Given the description of an element on the screen output the (x, y) to click on. 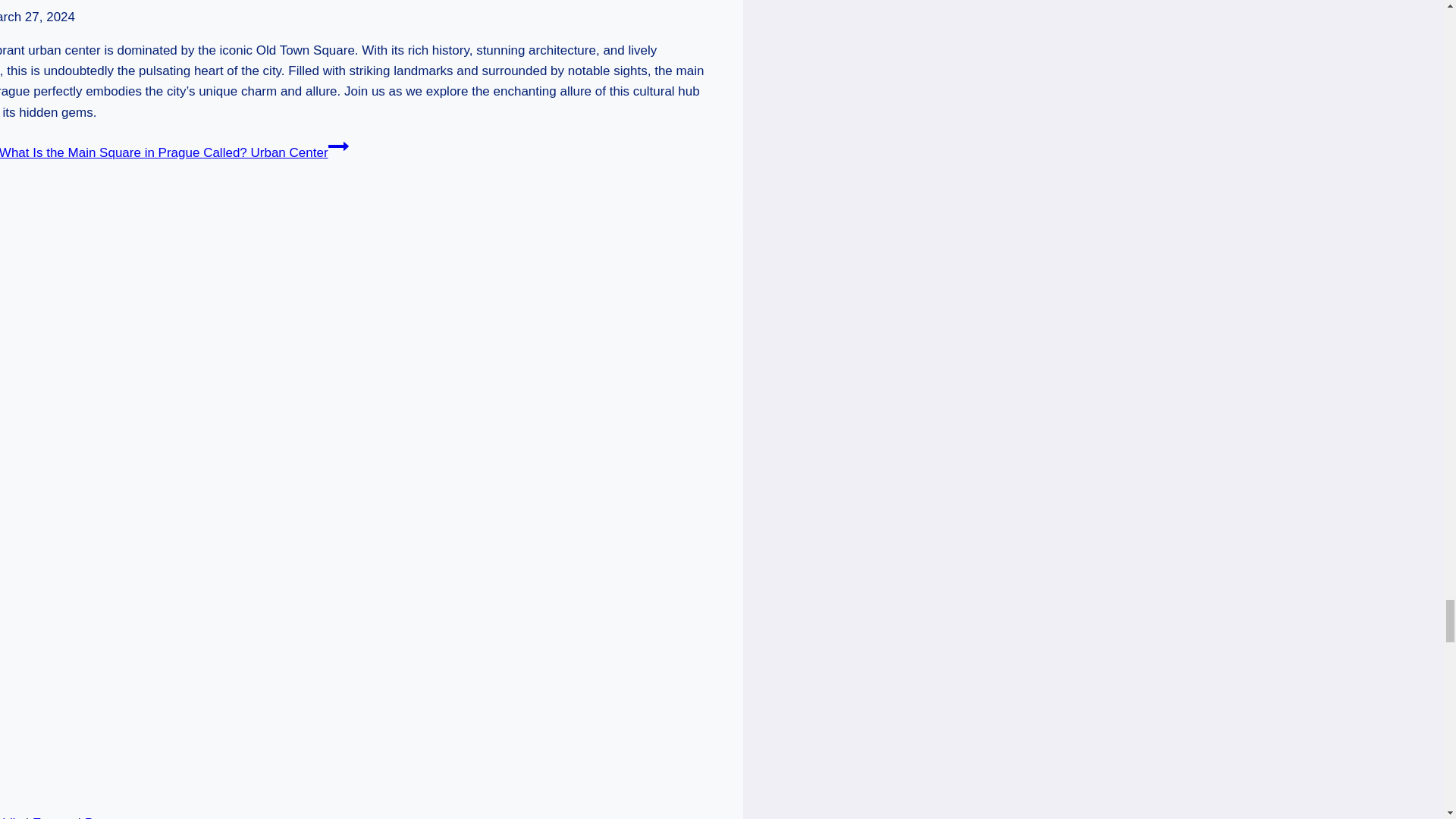
Continue (339, 146)
Czech Republic (10, 817)
